Given the description of an element on the screen output the (x, y) to click on. 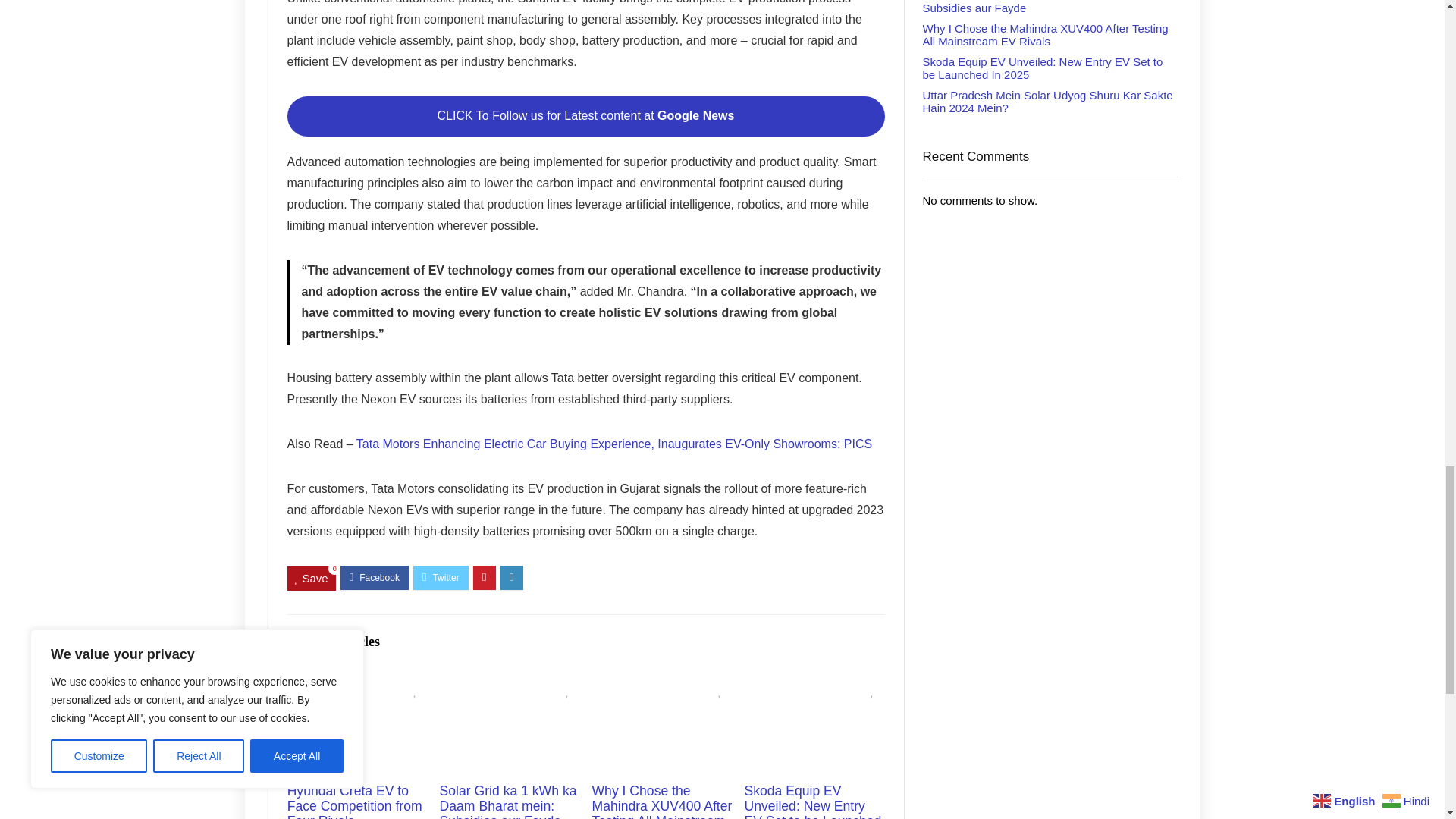
CLICK To Follow us for Latest content at Google News (584, 116)
